Given the description of an element on the screen output the (x, y) to click on. 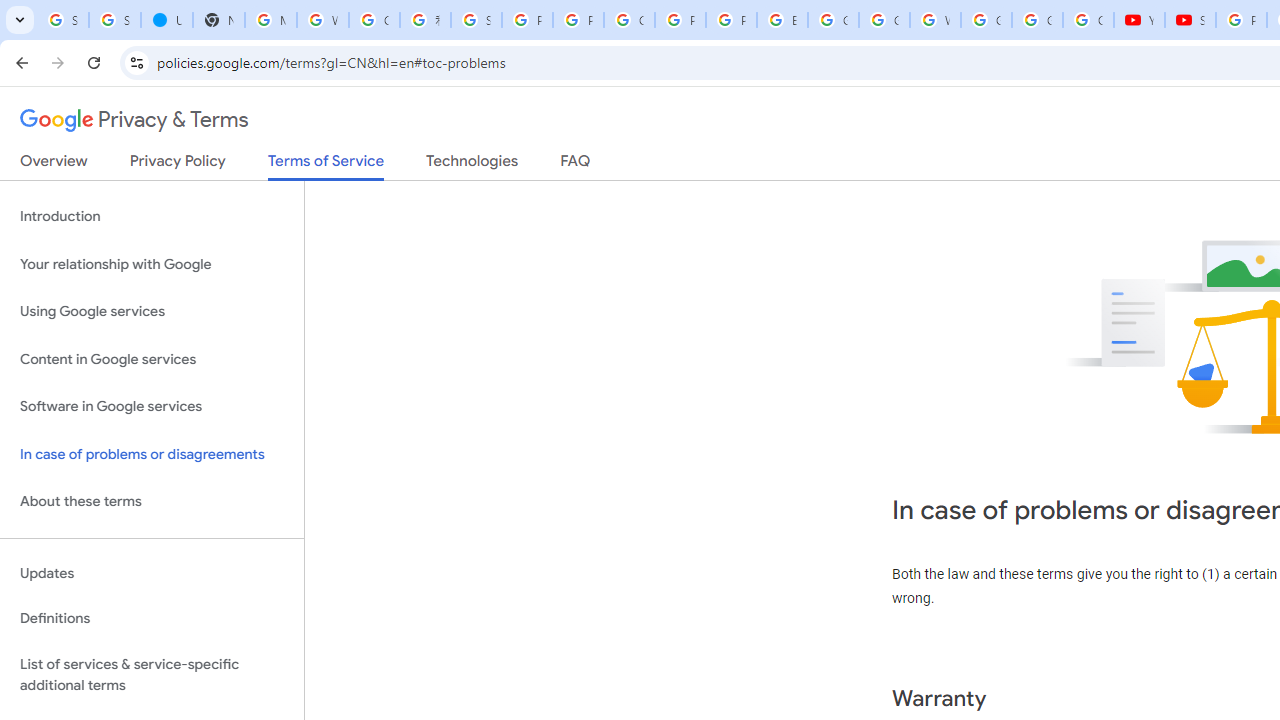
Subscriptions - YouTube (1189, 20)
Sign in - Google Accounts (114, 20)
Create your Google Account (629, 20)
Sign in - Google Accounts (475, 20)
New Tab (218, 20)
About these terms (152, 502)
Using Google services (152, 312)
USA TODAY (166, 20)
Edit and view right-to-left text - Google Docs Editors Help (781, 20)
